Given the description of an element on the screen output the (x, y) to click on. 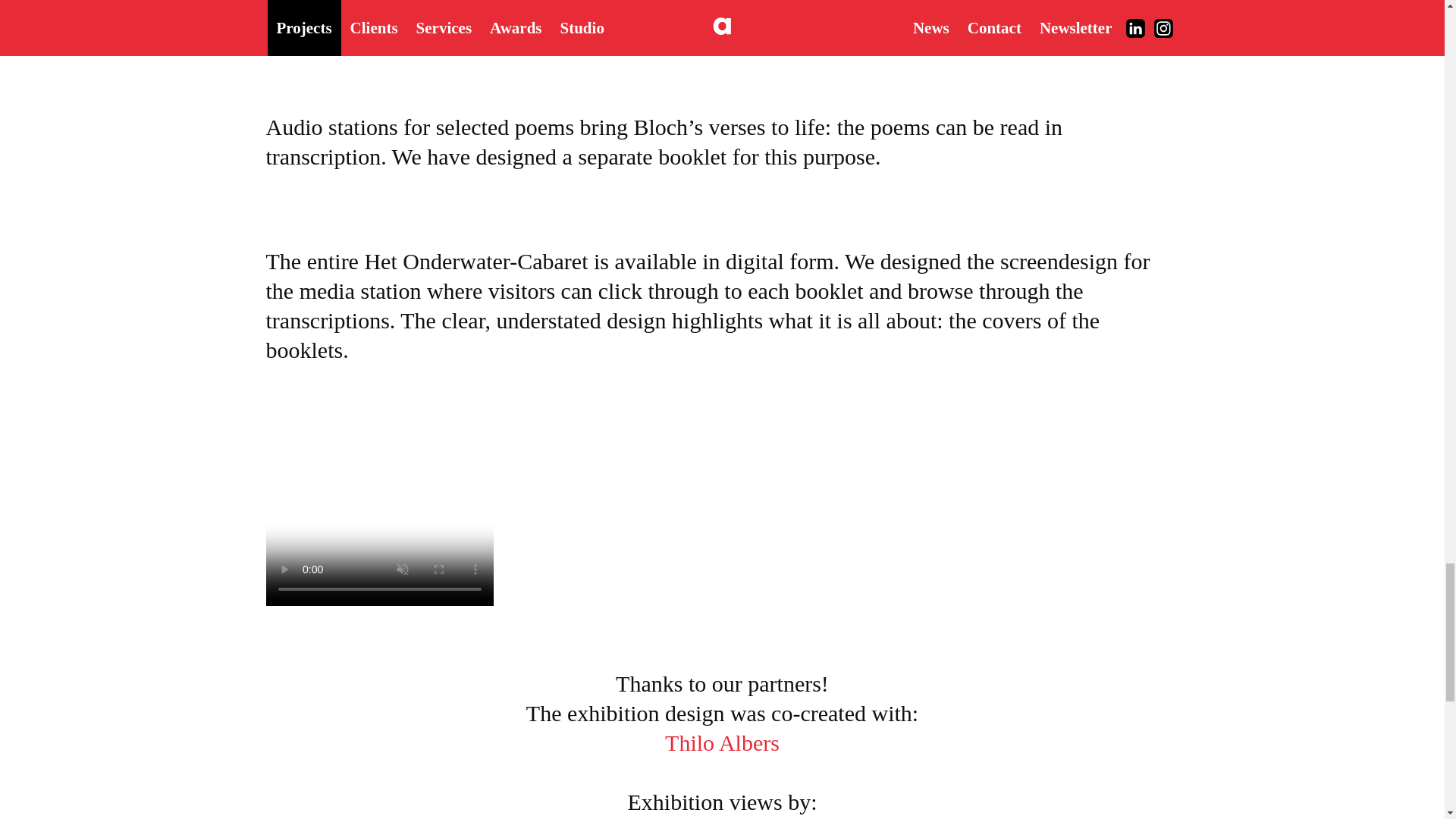
Thilo Albers (720, 742)
